Given the description of an element on the screen output the (x, y) to click on. 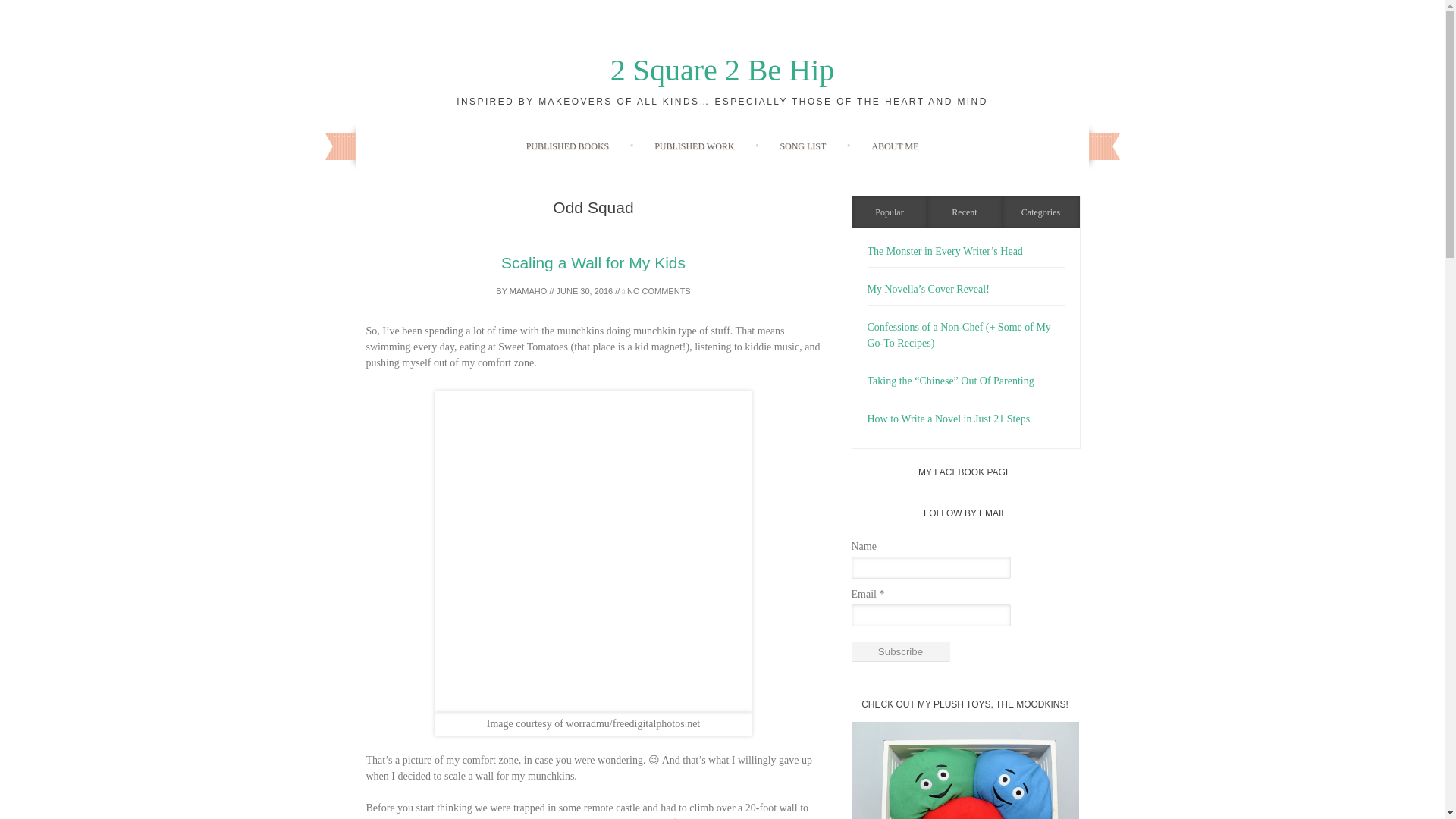
Categories (1041, 212)
5:08 pm (584, 290)
Scaling a Wall for My Kids (592, 262)
2 Square 2 Be Hip (722, 69)
Skip to content (754, 136)
How to Write a Novel in Just 21 Steps (948, 419)
MAMAHO (528, 290)
Tab 2 (963, 212)
PUBLISHED BOOKS (567, 145)
Recent (963, 212)
View all posts by mamaho (528, 290)
ABOUT ME (894, 145)
Tab 1 (889, 212)
Tab 3 (1041, 212)
JUNE 30, 2016 (584, 290)
